Given the description of an element on the screen output the (x, y) to click on. 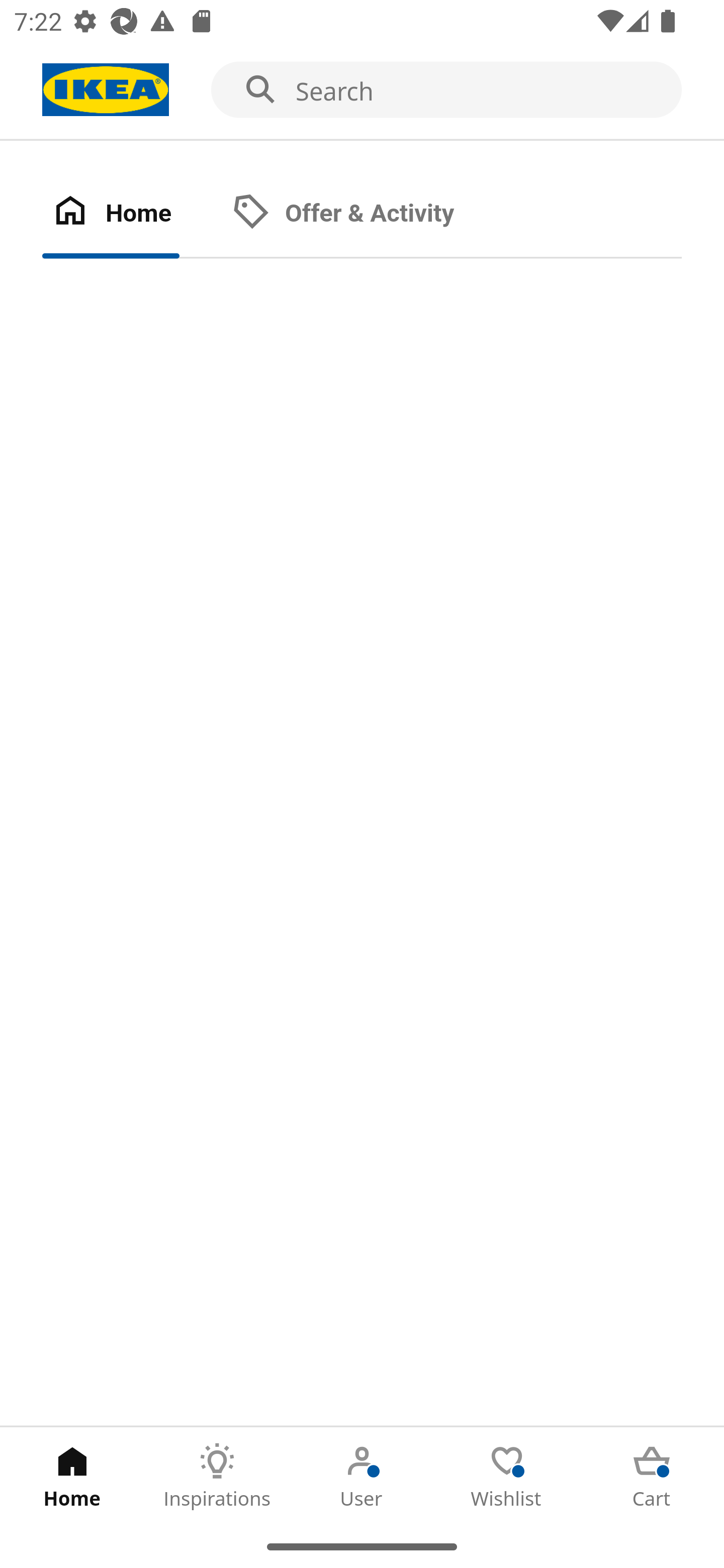
Search (361, 90)
Home
Tab 1 of 2 (131, 213)
Offer & Activity
Tab 2 of 2 (363, 213)
Home
Tab 1 of 5 (72, 1476)
Inspirations
Tab 2 of 5 (216, 1476)
User
Tab 3 of 5 (361, 1476)
Wishlist
Tab 4 of 5 (506, 1476)
Cart
Tab 5 of 5 (651, 1476)
